Given the description of an element on the screen output the (x, y) to click on. 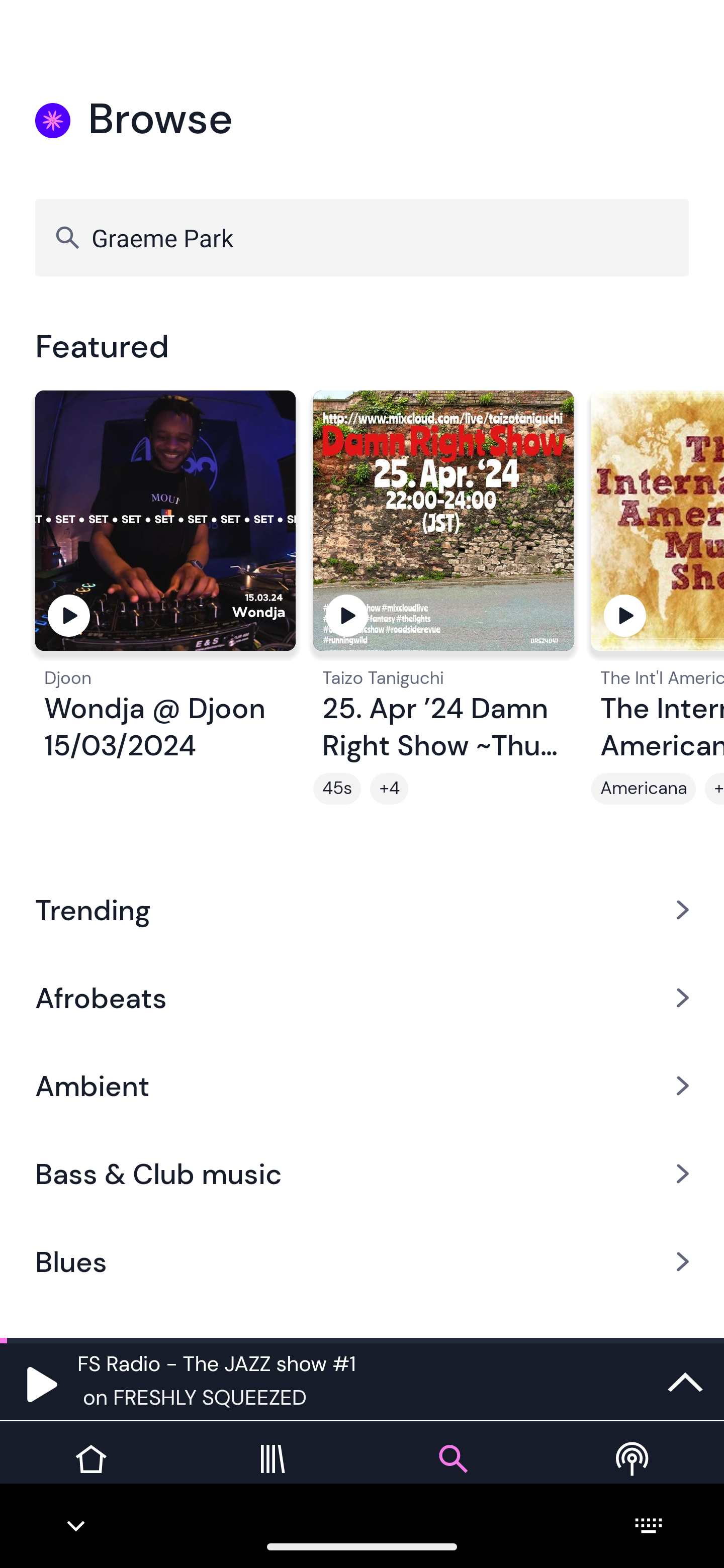
Graeme Park (361, 237)
45s (337, 788)
Americana (643, 788)
Trending (361, 909)
Afrobeats (361, 997)
Ambient (361, 1085)
Bass & Club music (361, 1174)
Blues (361, 1262)
Home tab (90, 1473)
Library tab (271, 1473)
Browse tab (452, 1473)
Live tab (633, 1473)
